Given the description of an element on the screen output the (x, y) to click on. 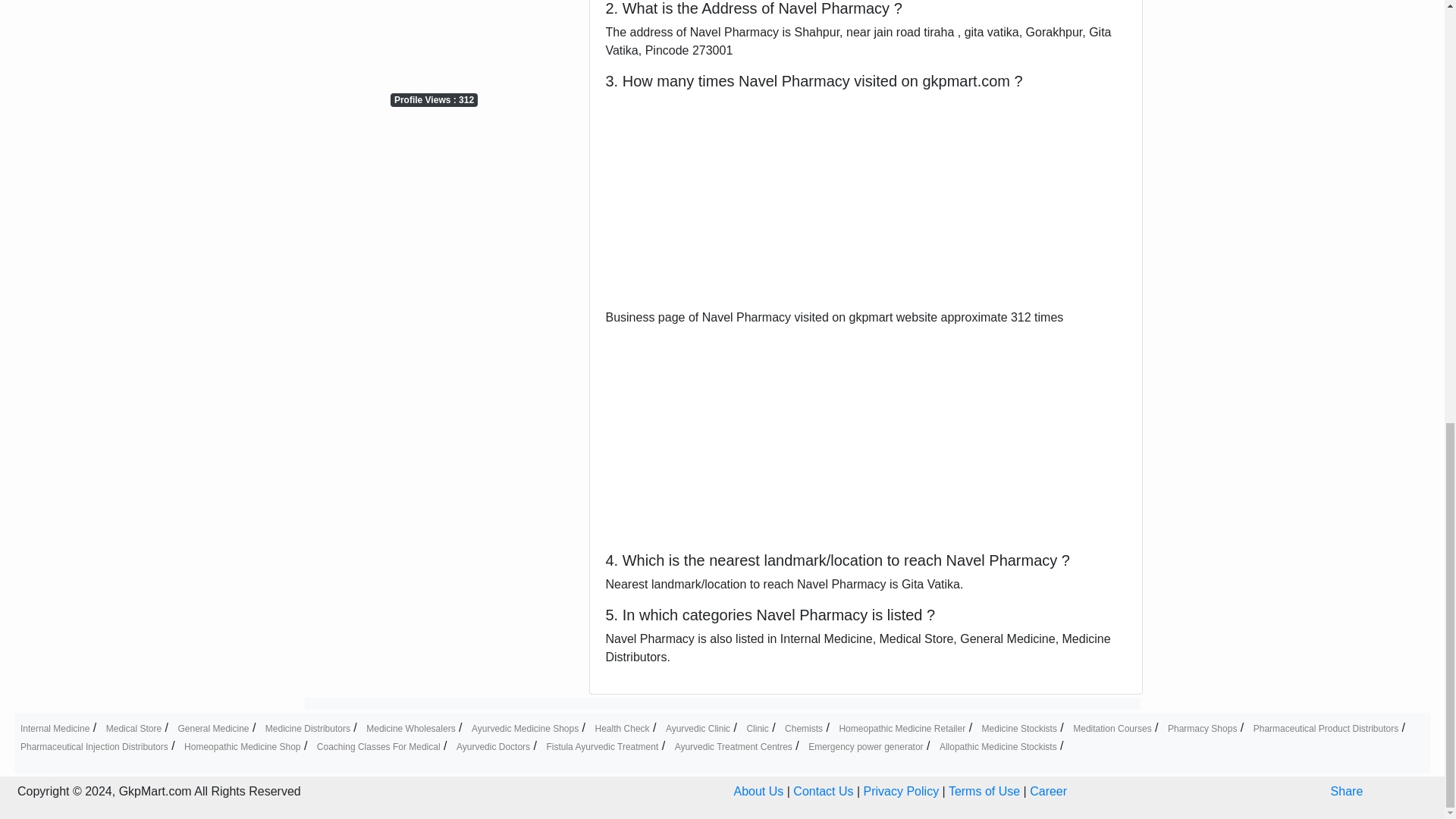
Medical Store (133, 728)
Medicine Stockists (1019, 728)
Coaching Classes For Medical (379, 747)
Allopathic Medicine Stockists (998, 747)
Advertisement (865, 202)
Pharmaceutical Product Distributors (1325, 728)
Advertisement (865, 432)
Homeopathic Medicine Retailer (901, 728)
Advertisement (434, 44)
Pharmaceutical Injection Distributors (94, 747)
General Medicine (212, 728)
Pharmacy Shops (1201, 728)
Internal Medicine (54, 728)
Emergency power generator (865, 747)
Fistula Ayurvedic Treatment (602, 747)
